Given the description of an element on the screen output the (x, y) to click on. 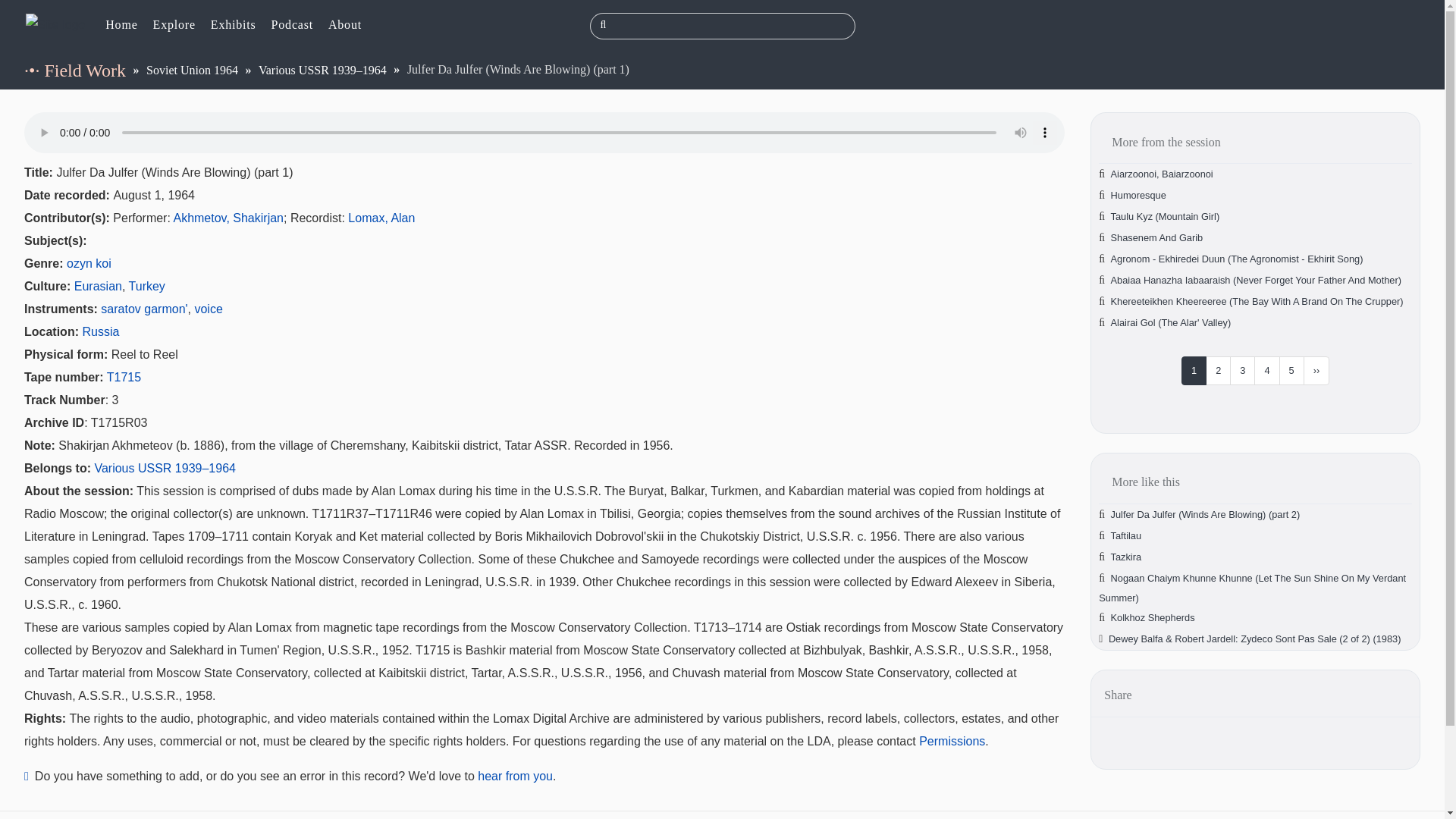
Exhibits (233, 25)
Home (55, 24)
ozyn koi (89, 263)
Lomax, Alan (380, 217)
Field Work (84, 70)
Soviet Union 1964 (192, 69)
Shasenem And Garib (1157, 237)
Soviet Union 1964 (192, 69)
Podcast (292, 25)
Permissions (951, 740)
Turkey (147, 286)
Eurasian (98, 286)
Home (121, 25)
Aiarzoonoi, Baiarzoonoi (1161, 173)
